Given the description of an element on the screen output the (x, y) to click on. 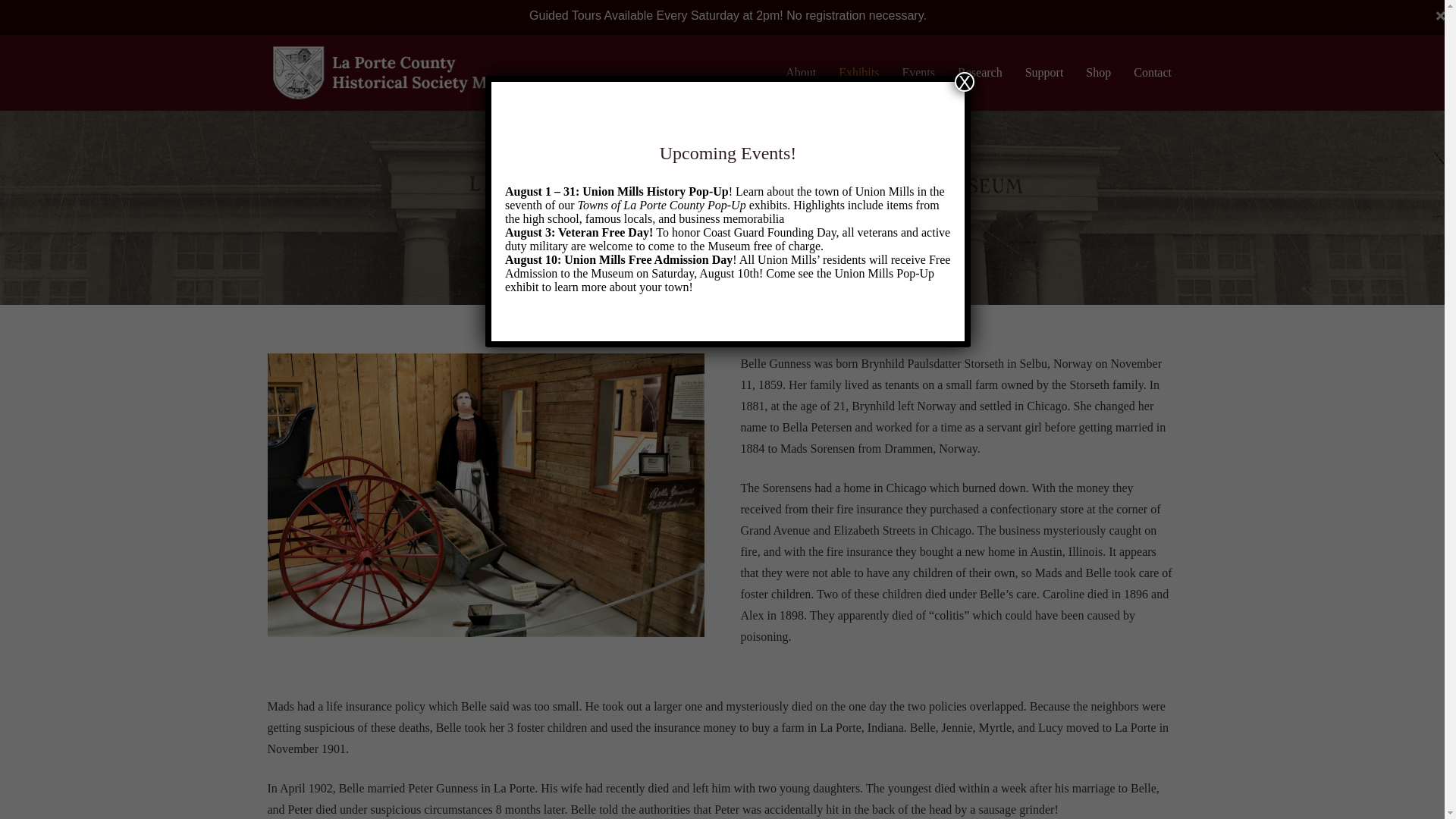
Research (979, 72)
